Given the description of an element on the screen output the (x, y) to click on. 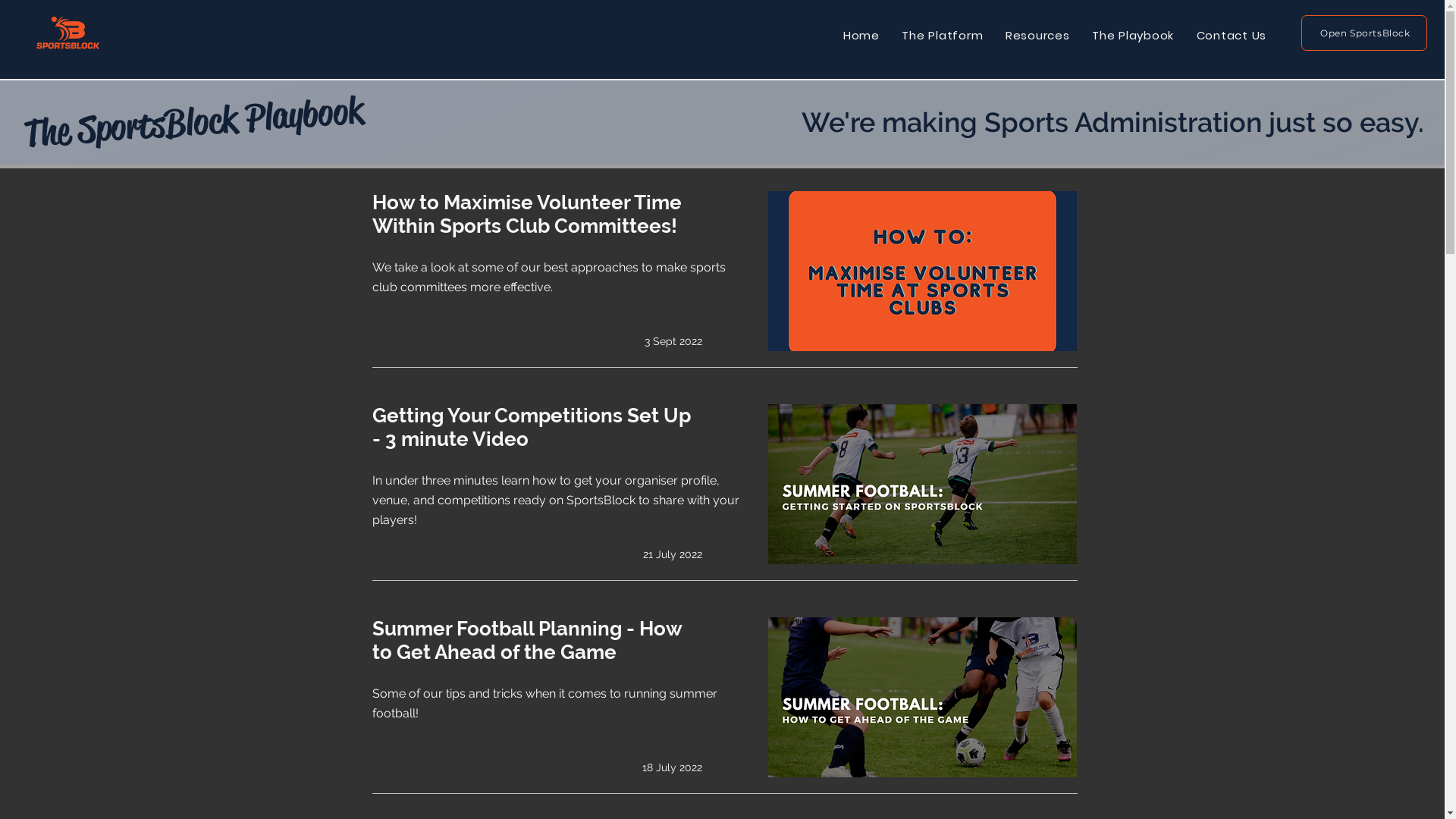
Contact Us Element type: text (1231, 34)
Summer Football.png Element type: hover (921, 697)
Open SportsBlock Element type: text (1364, 32)
Home Element type: text (861, 34)
The Playbook Element type: text (1132, 34)
sportsblock video.png Element type: hover (921, 484)
Resources Element type: text (1037, 34)
Goals (2).png Element type: hover (921, 271)
